Given the description of an element on the screen output the (x, y) to click on. 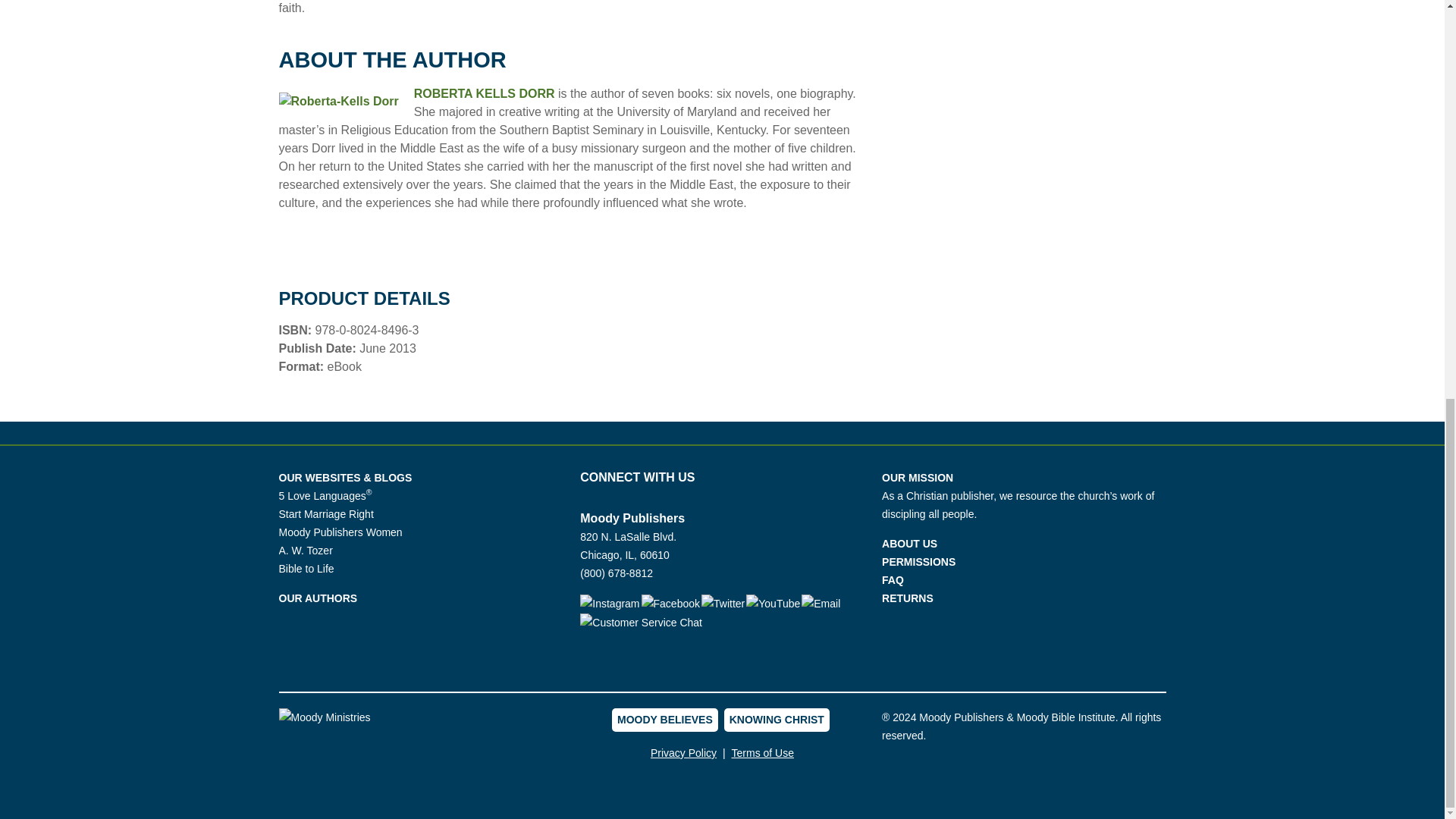
A. W. Tozer (306, 550)
Roberta-Kells Dorr (338, 101)
Roberta-Kells Dorr (483, 92)
Twitter (722, 603)
Start Marriage Right (326, 513)
Moody Publishers Women (341, 532)
Instagram (609, 603)
Twitter (723, 603)
Instagram (609, 603)
The 5 Love Languages (325, 495)
YouTube (773, 603)
Facebook (671, 603)
Facebook (671, 603)
